Given the description of an element on the screen output the (x, y) to click on. 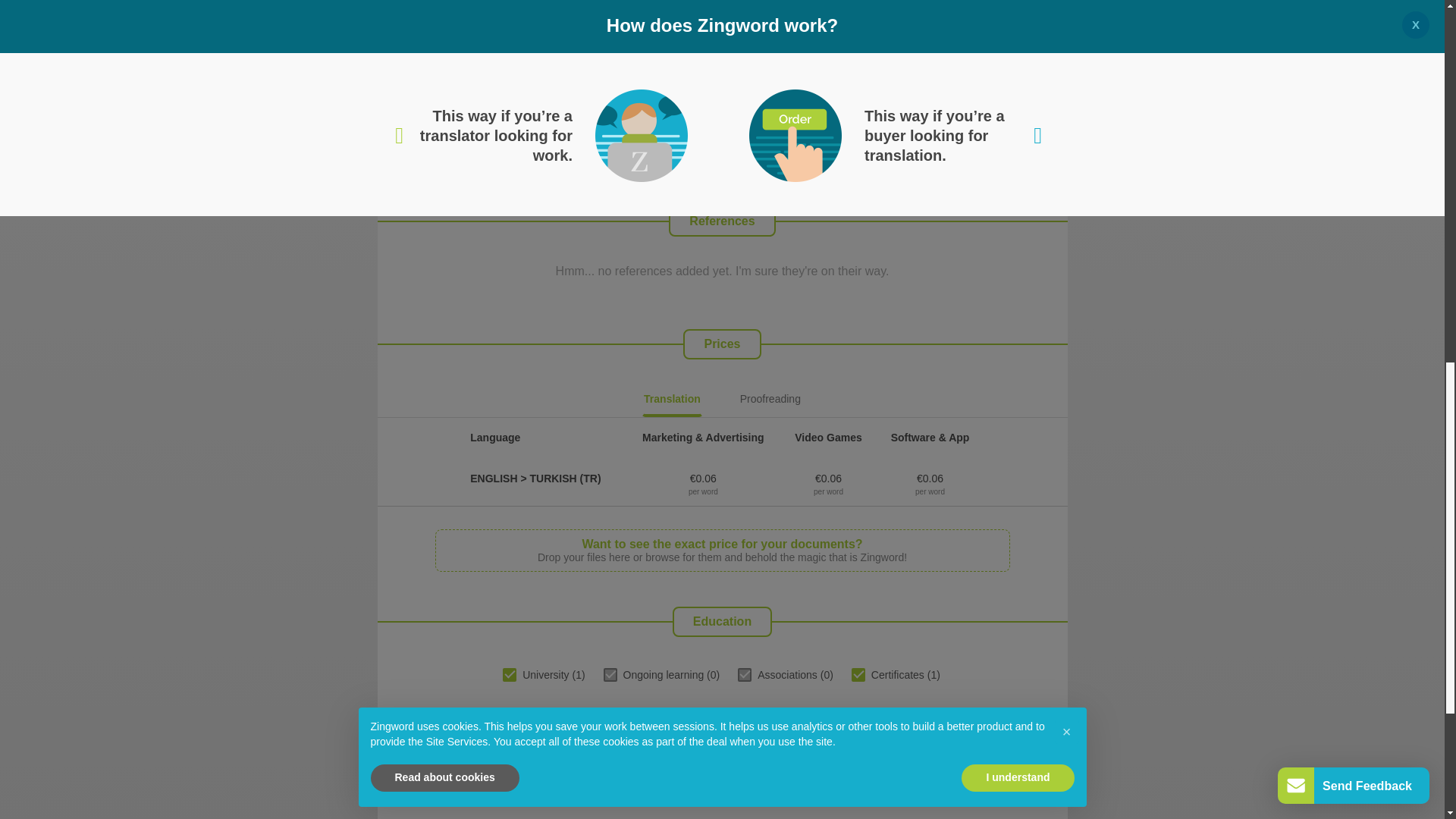
Translation (672, 402)
Proofreading (770, 402)
